Given the description of an element on the screen output the (x, y) to click on. 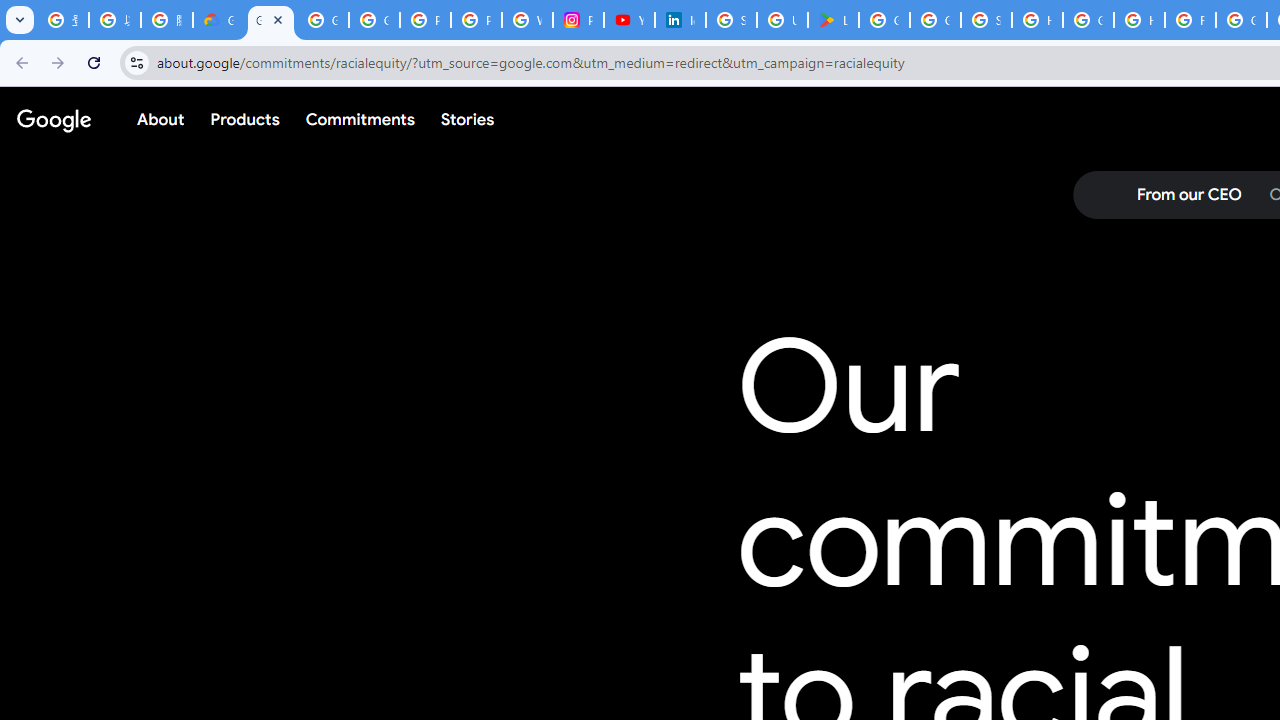
From our CEO: Jump to page section (1188, 195)
Products (245, 119)
Commitments (359, 119)
Last Shelter: Survival - Apps on Google Play (832, 20)
